Given the description of an element on the screen output the (x, y) to click on. 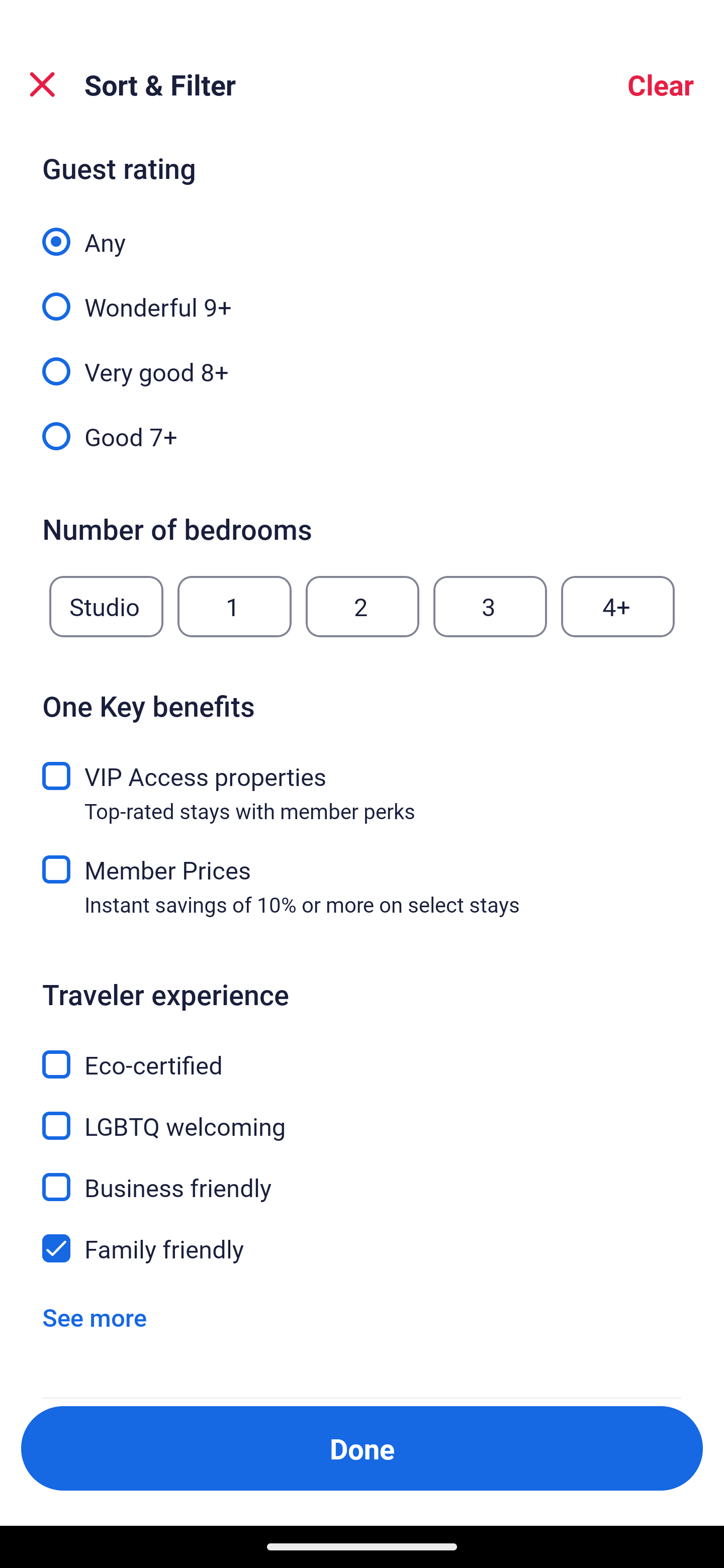
Close Sort and Filter (42, 84)
Clear (660, 84)
Wonderful 9+ (361, 295)
Very good 8+ (361, 360)
Good 7+ (361, 434)
Studio (106, 606)
1 (234, 606)
2 (362, 606)
3 (490, 606)
4+ (617, 606)
Eco-certified, Eco-certified (361, 1052)
LGBTQ welcoming, LGBTQ welcoming (361, 1113)
Business friendly, Business friendly (361, 1175)
Family friendly, Family friendly (361, 1248)
See more See more traveler experience options Link (93, 1316)
Apply and close Sort and Filter Done (361, 1448)
